Given the description of an element on the screen output the (x, y) to click on. 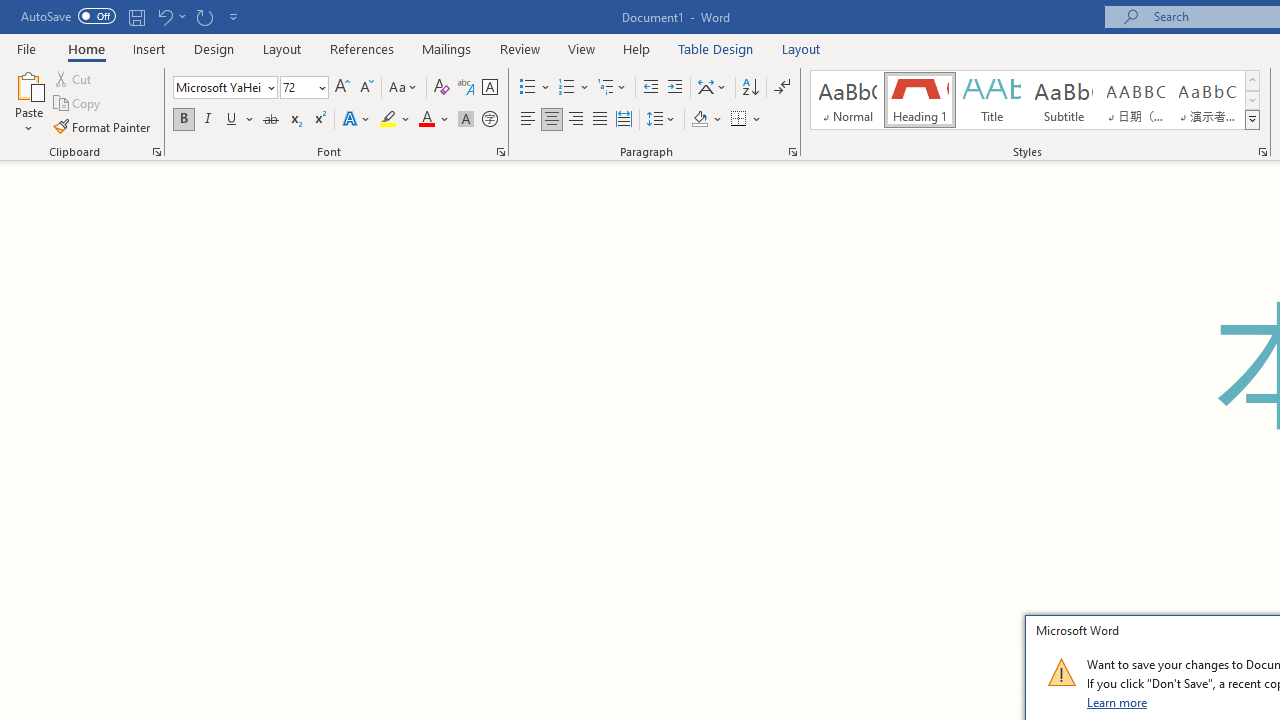
Repeat Doc Close (204, 15)
